Given the description of an element on the screen output the (x, y) to click on. 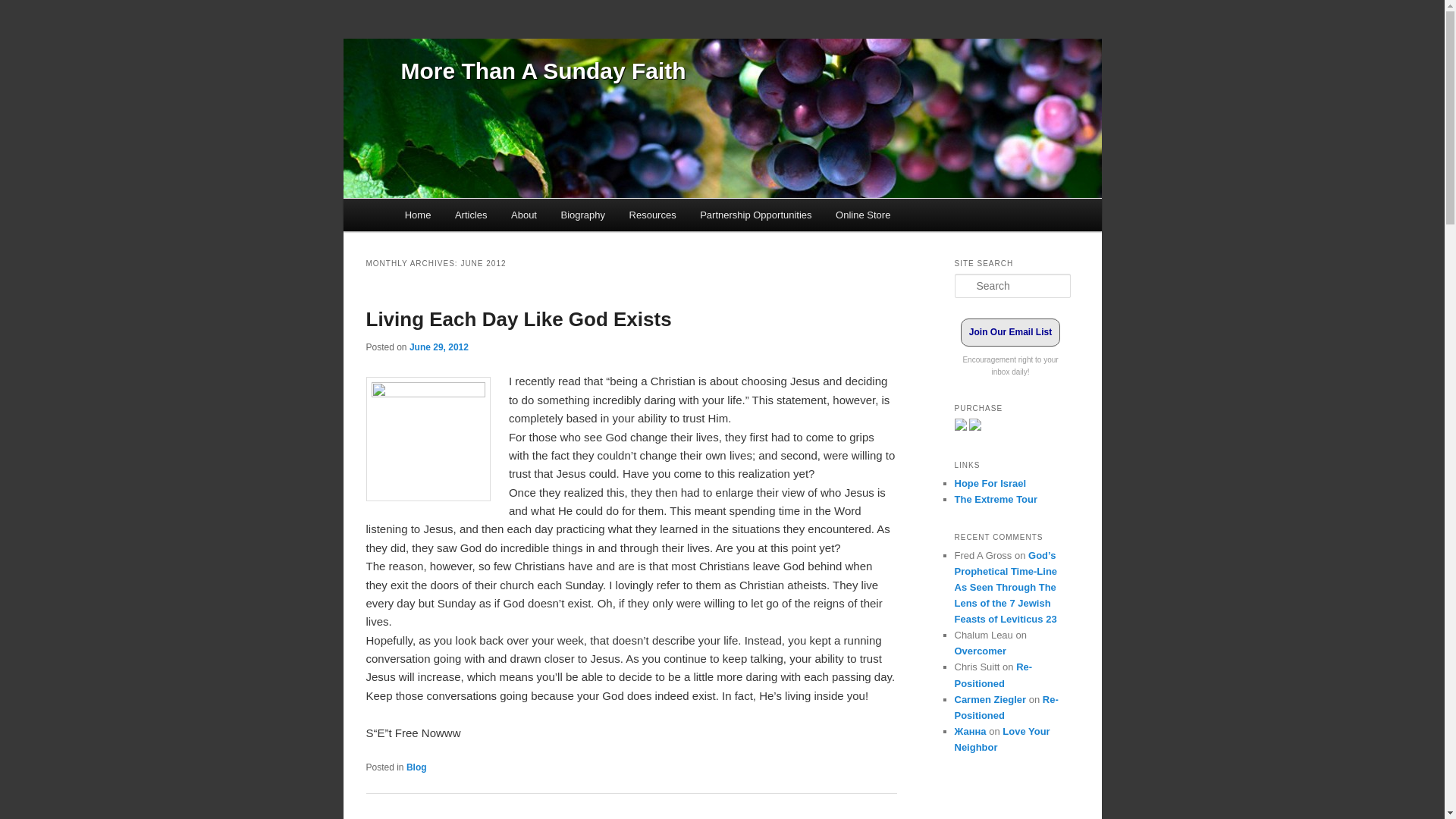
trust in God (427, 438)
Skip to secondary content (479, 217)
Skip to primary content (472, 217)
Home (417, 214)
About (523, 214)
Permalink to Living Each Day Like God Exists (518, 318)
Resources (652, 214)
Articles (470, 214)
Blog (416, 767)
Online Store (863, 214)
More Than A Sunday Faith (542, 70)
Partnership Opportunities (755, 214)
Biography (582, 214)
5:30 am (438, 347)
Skip to secondary content (479, 217)
